Given the description of an element on the screen output the (x, y) to click on. 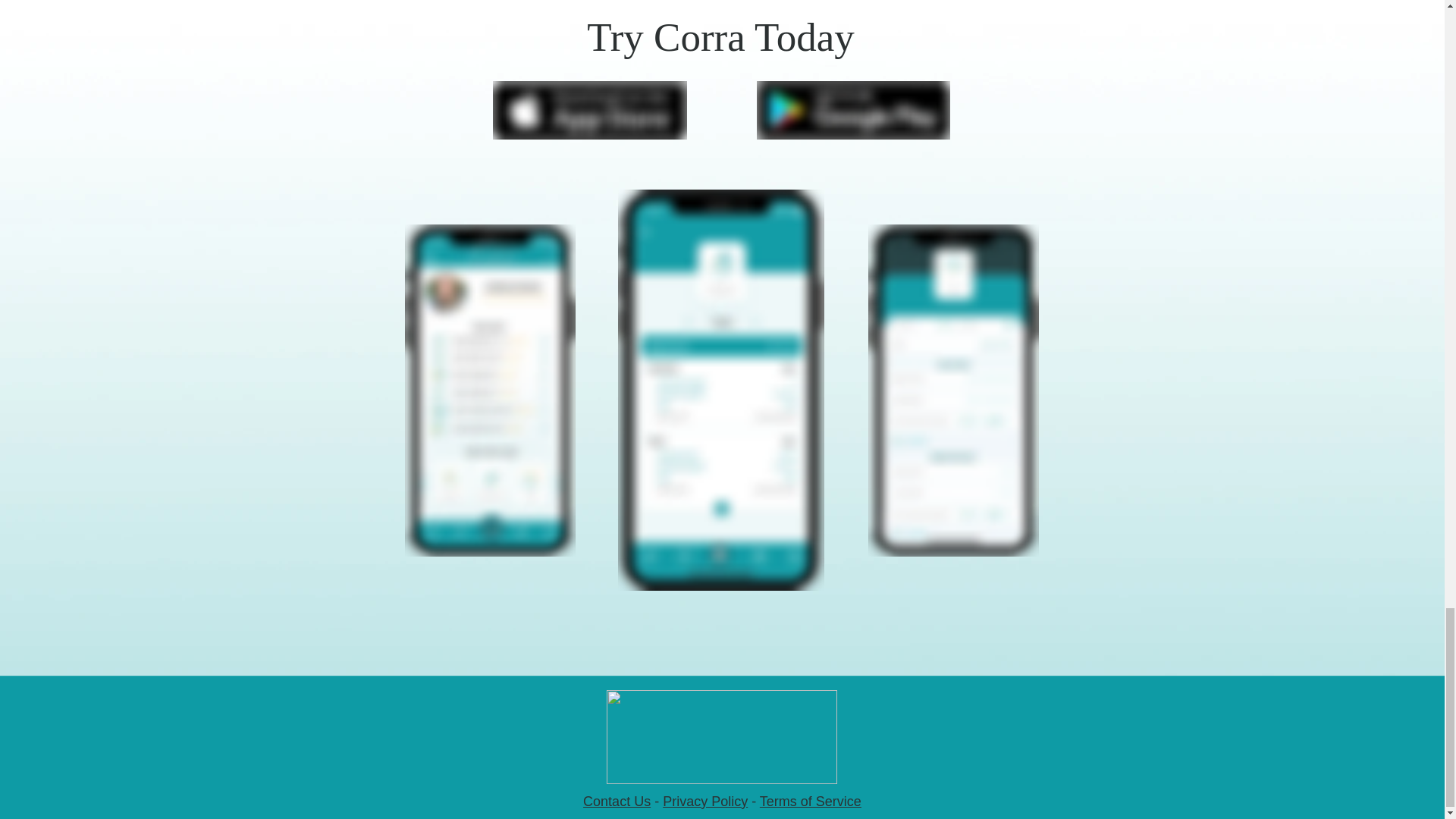
Privacy Policy (705, 801)
Contact Us (616, 801)
Terms of Service (810, 801)
